Given the description of an element on the screen output the (x, y) to click on. 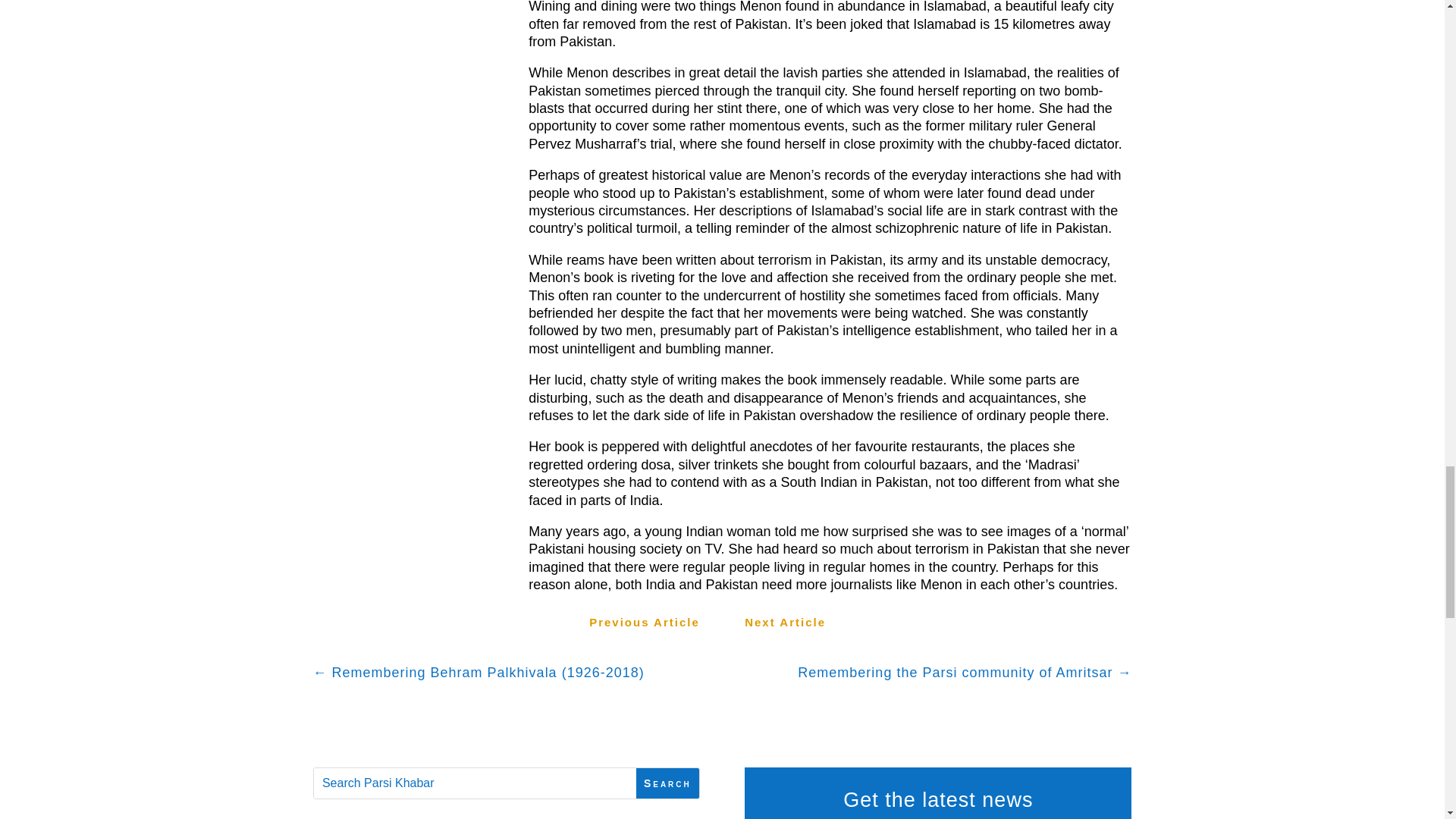
Search (667, 783)
Search (667, 783)
Search (667, 783)
